Given the description of an element on the screen output the (x, y) to click on. 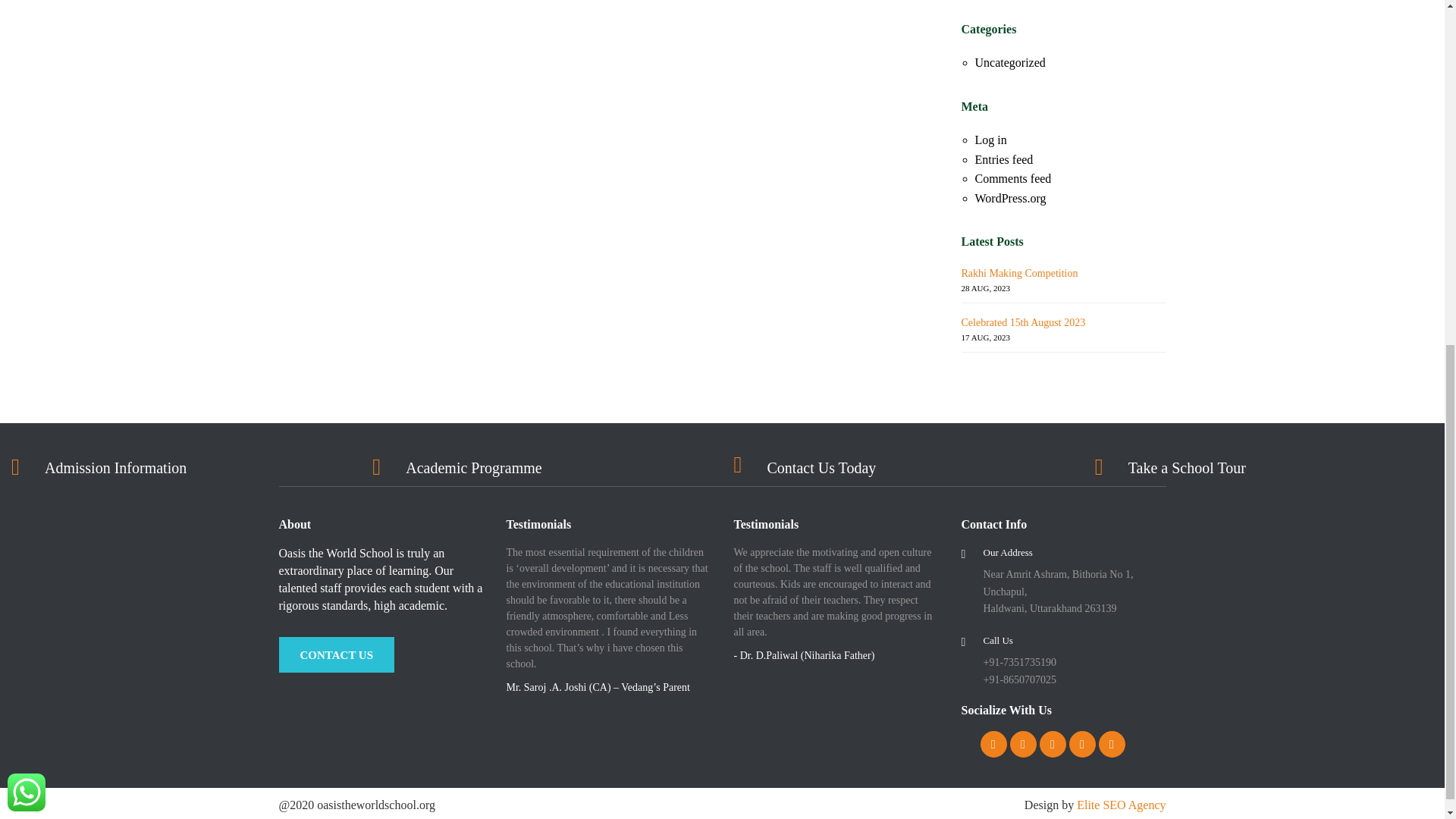
Rakhi Making Competition (1019, 273)
Celebrated 15th August 2023 (1023, 322)
WhatsApp us (26, 190)
